Given the description of an element on the screen output the (x, y) to click on. 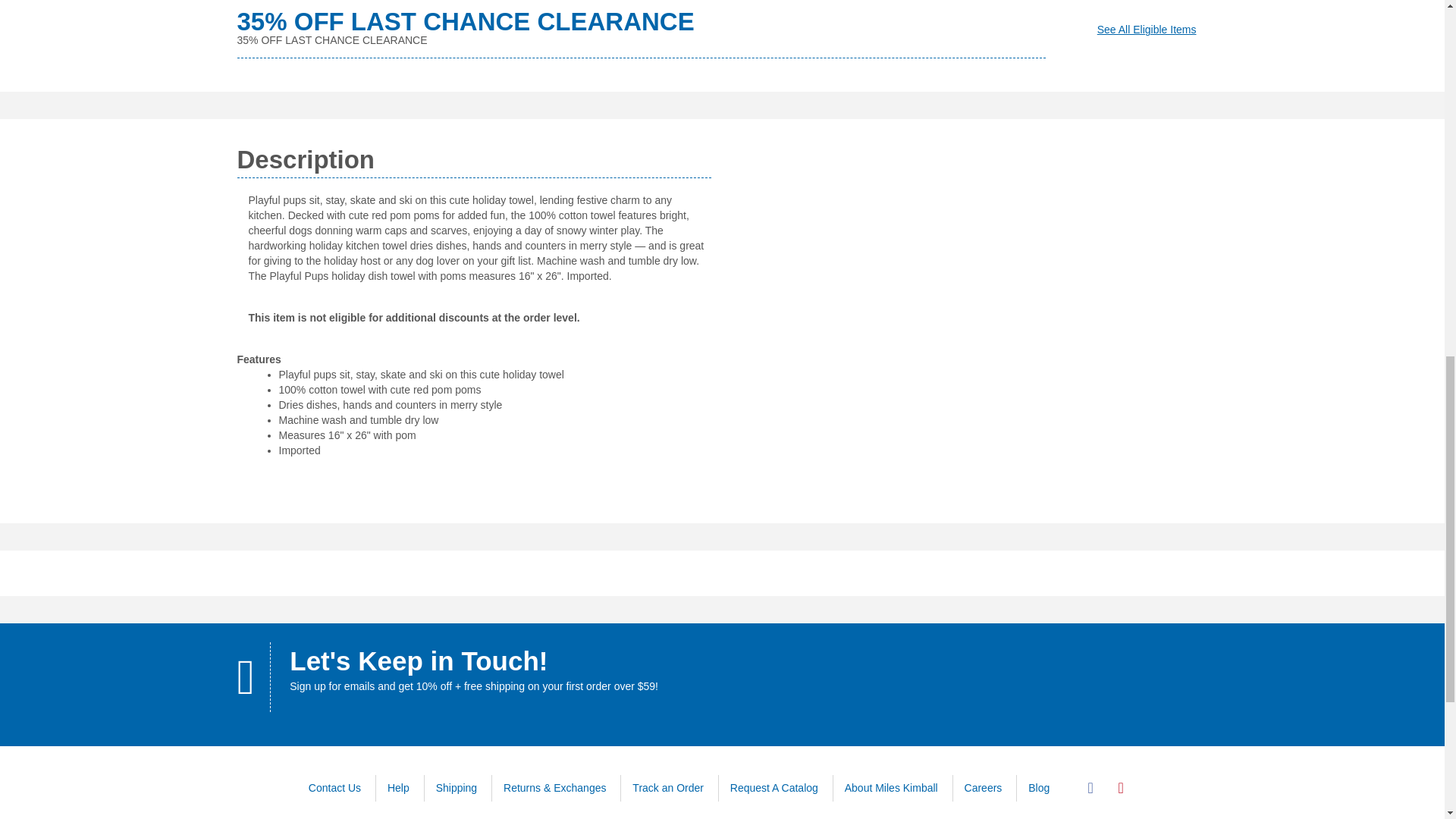
Recommendation Link (1146, 29)
Facebook (1090, 788)
Pinterest (1120, 788)
